Given the description of an element on the screen output the (x, y) to click on. 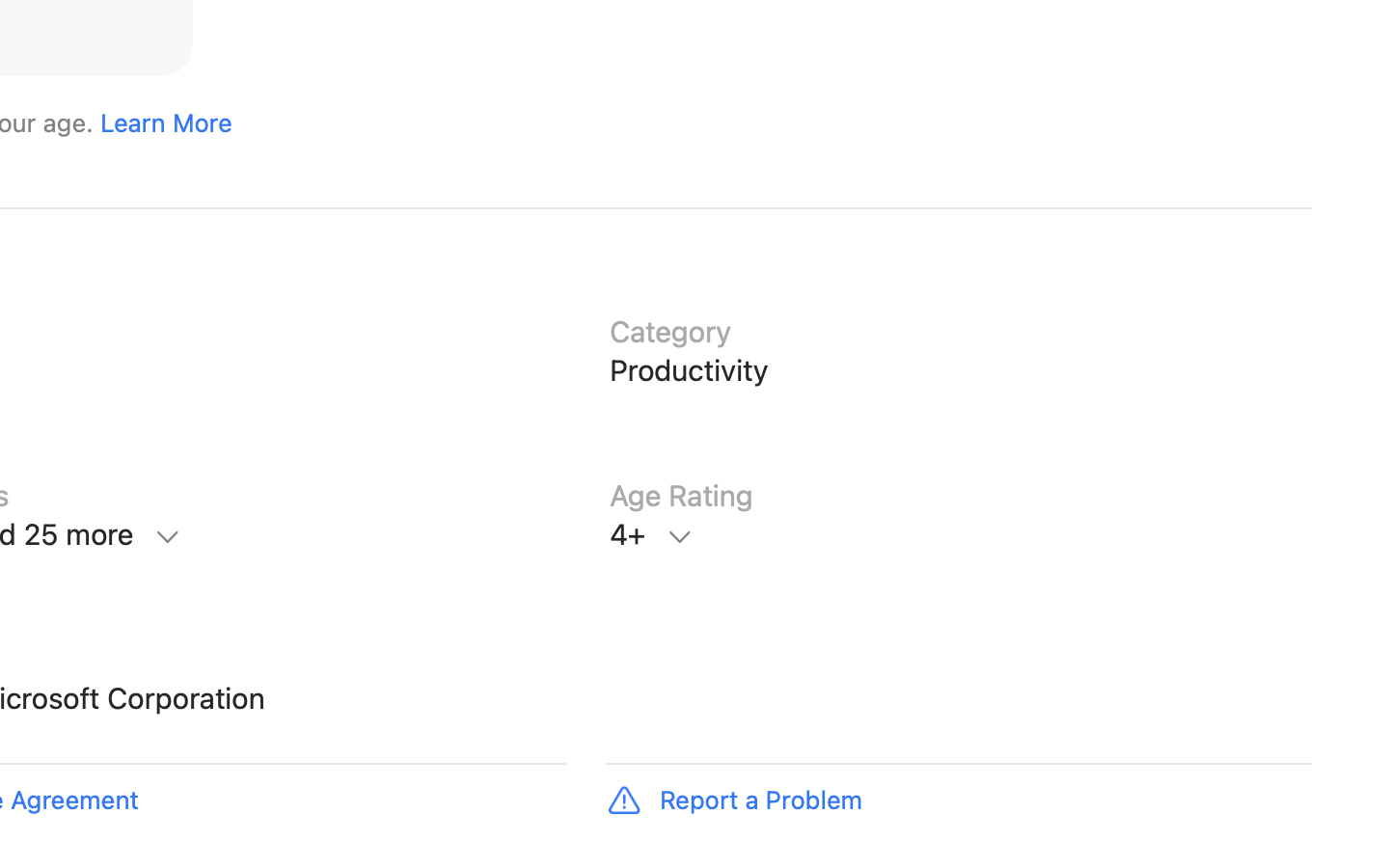
Age Rating, 4+, Learn More Element type: AXStaticText (958, 534)
Category, Productivity Element type: AXStaticText (958, 371)
